Given the description of an element on the screen output the (x, y) to click on. 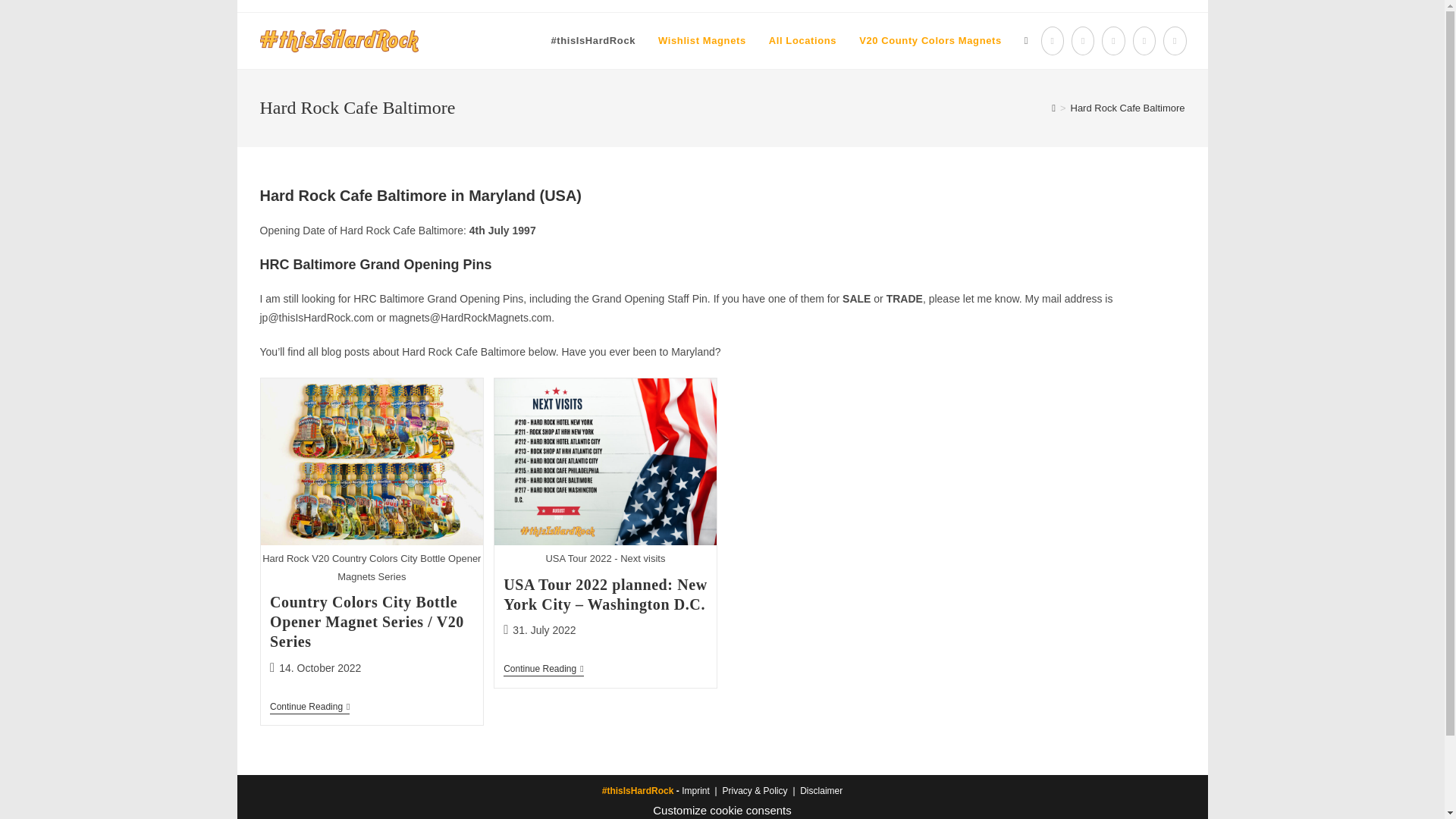
All Locations (802, 40)
Disclaimer (821, 790)
V20 County Colors Magnets (930, 40)
Wishlist Magnets (701, 40)
Hard Rock Cafe Baltimore (1127, 107)
Toggle website search (1026, 40)
